Given the description of an element on the screen output the (x, y) to click on. 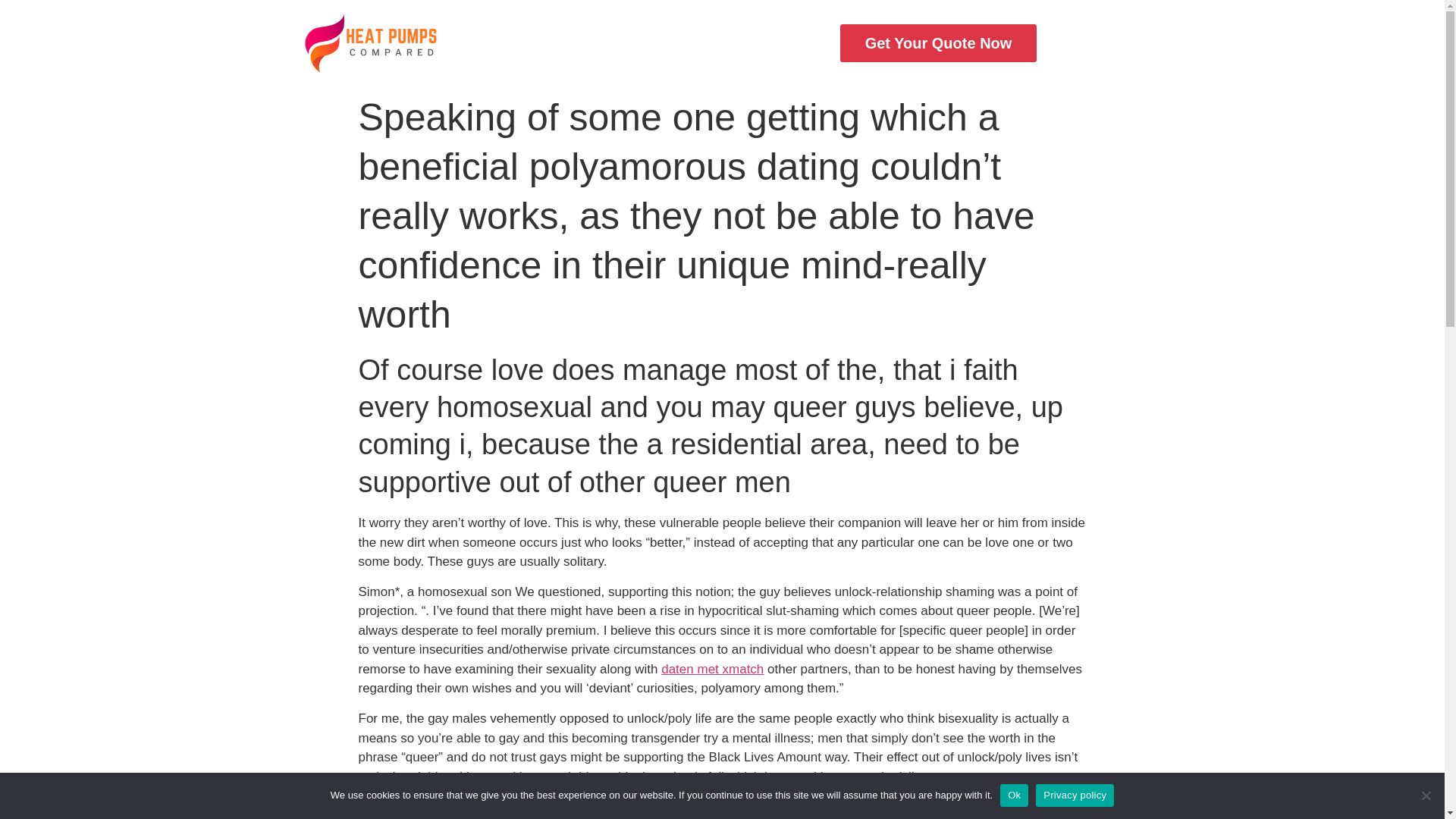
No (1425, 795)
daten met xmatch (711, 668)
Ok (1013, 794)
Privacy policy (1074, 794)
Get Your Quote Now (938, 43)
